Given the description of an element on the screen output the (x, y) to click on. 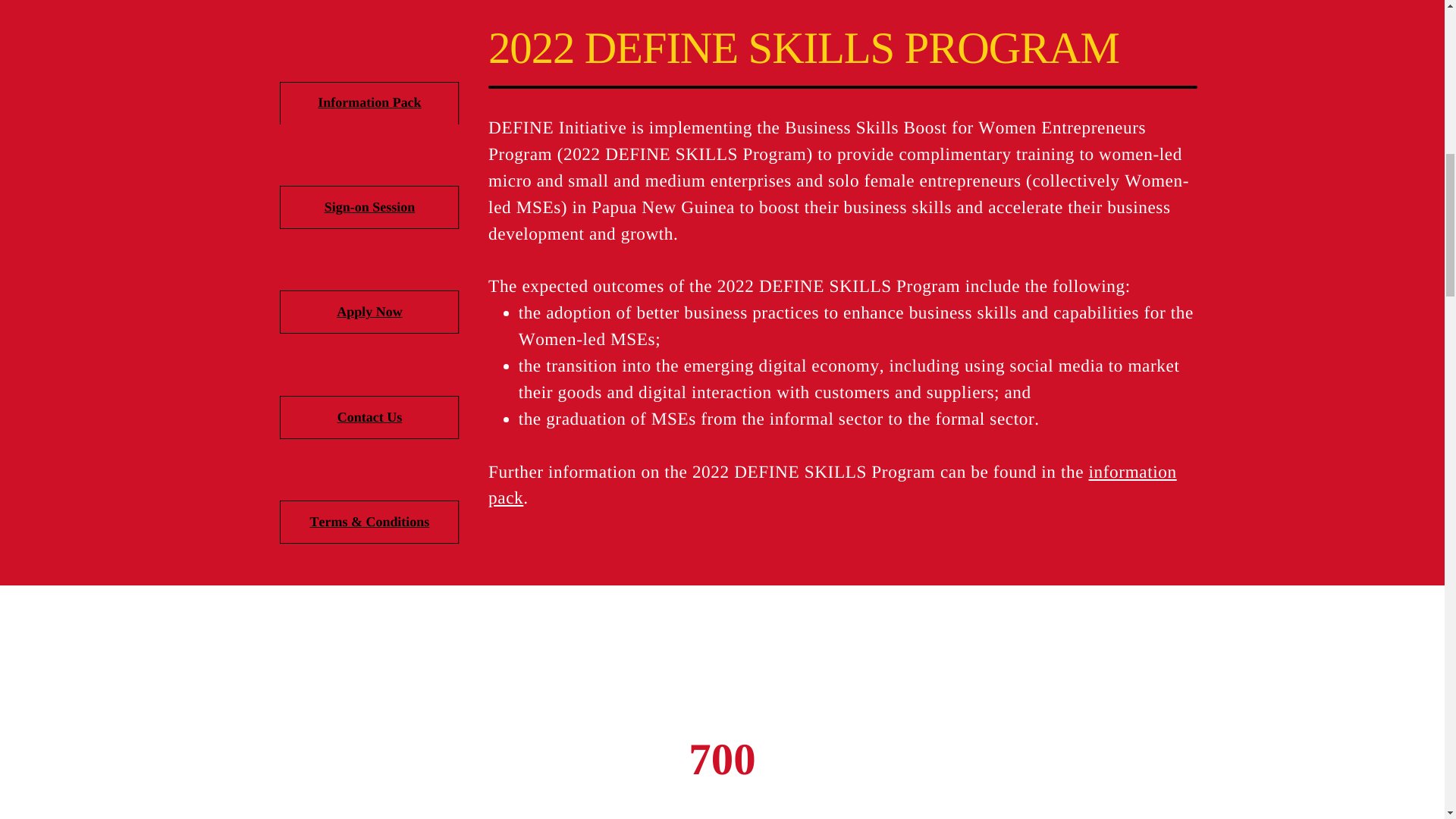
Information Pack (368, 102)
information pack (831, 485)
Sign-on Session (369, 206)
Apply Now (368, 311)
Contact Us (369, 417)
